Given the description of an element on the screen output the (x, y) to click on. 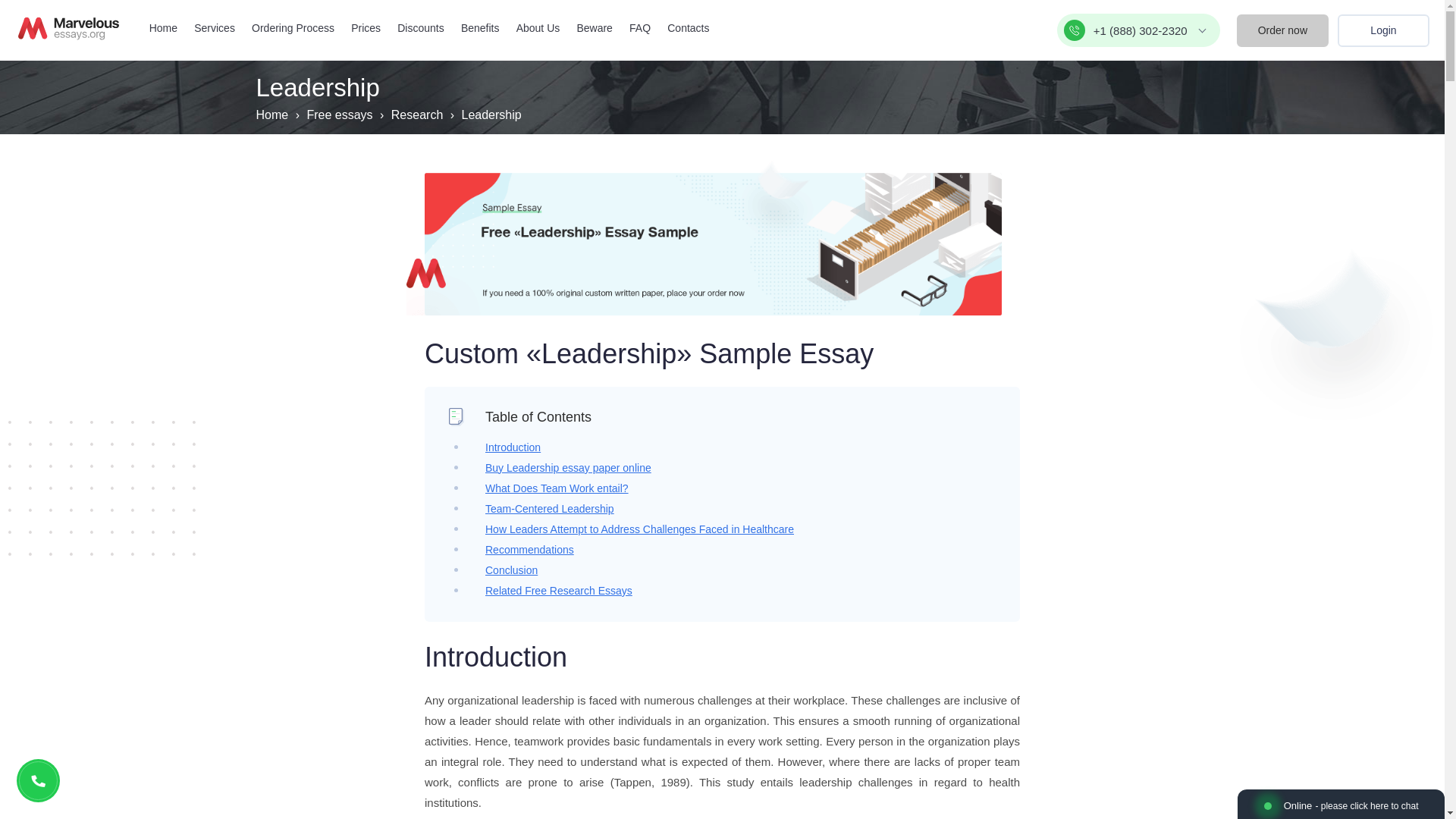
Home (163, 28)
Discounts (420, 28)
Services (213, 28)
Ordering Process (292, 28)
Benefits (480, 28)
FAQ (639, 28)
About Us (538, 28)
Order now (1281, 29)
Contacts (687, 28)
MarvelousEssays.org (68, 28)
Prices (365, 28)
Beware (593, 28)
